Given the description of an element on the screen output the (x, y) to click on. 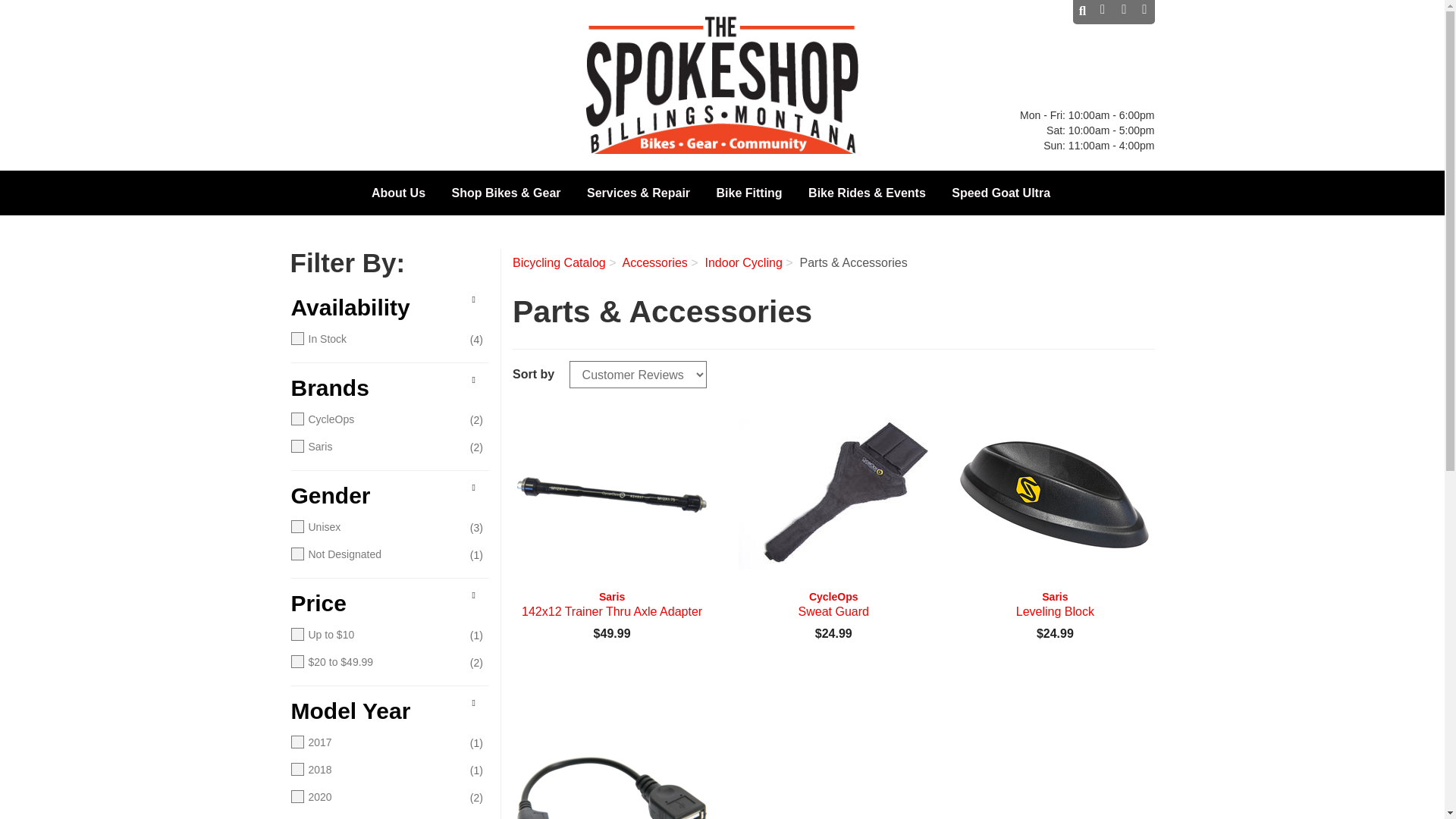
About Us (397, 196)
The Spoke Shop Home Page (722, 84)
Saris 142x12 Trainer Thru Axle Adapter (611, 493)
Saris 142x12 Trainer Thru Axle Adapter (611, 603)
CycleOps Sweat Guard (833, 493)
CycleOps Sweat Guard (833, 603)
Saris Leveling Block (1054, 493)
